Given the description of an element on the screen output the (x, y) to click on. 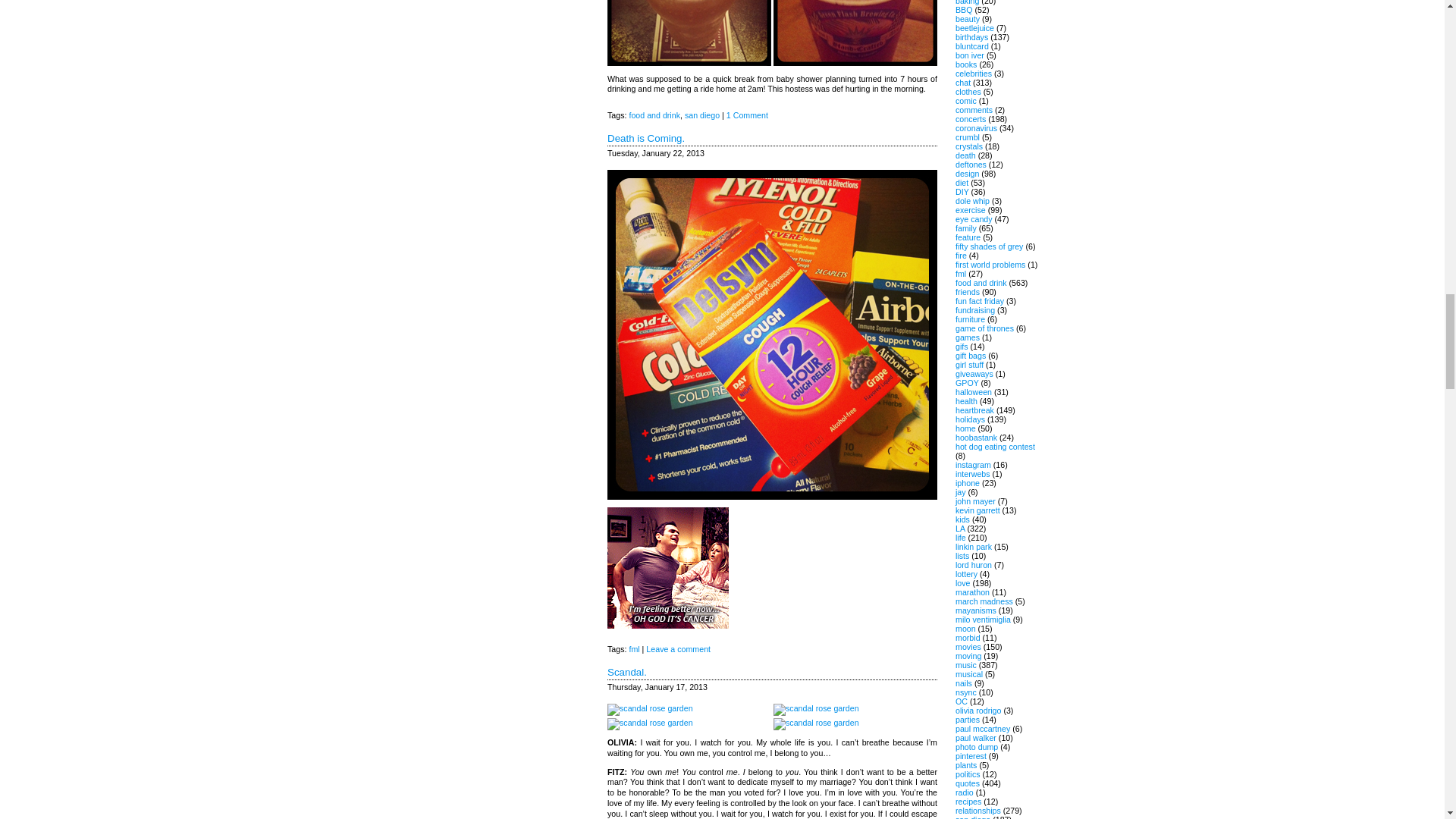
Leave a comment (678, 648)
fml (633, 648)
san diego (701, 114)
Scandal. (626, 672)
1 Comment (747, 114)
Death is Coming. (645, 138)
food and drink (653, 114)
